Given the description of an element on the screen output the (x, y) to click on. 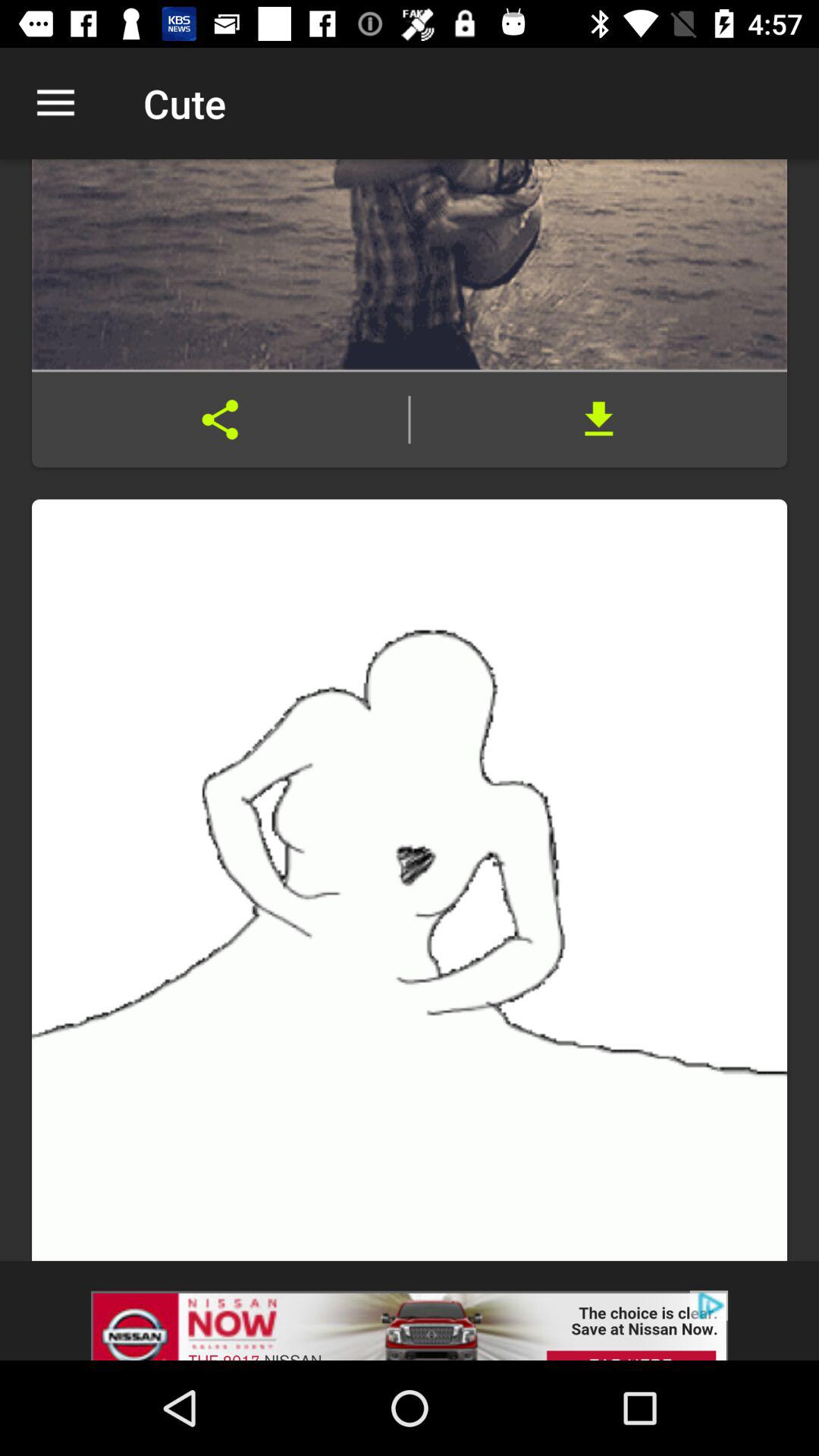
click advertisement (409, 1310)
